Given the description of an element on the screen output the (x, y) to click on. 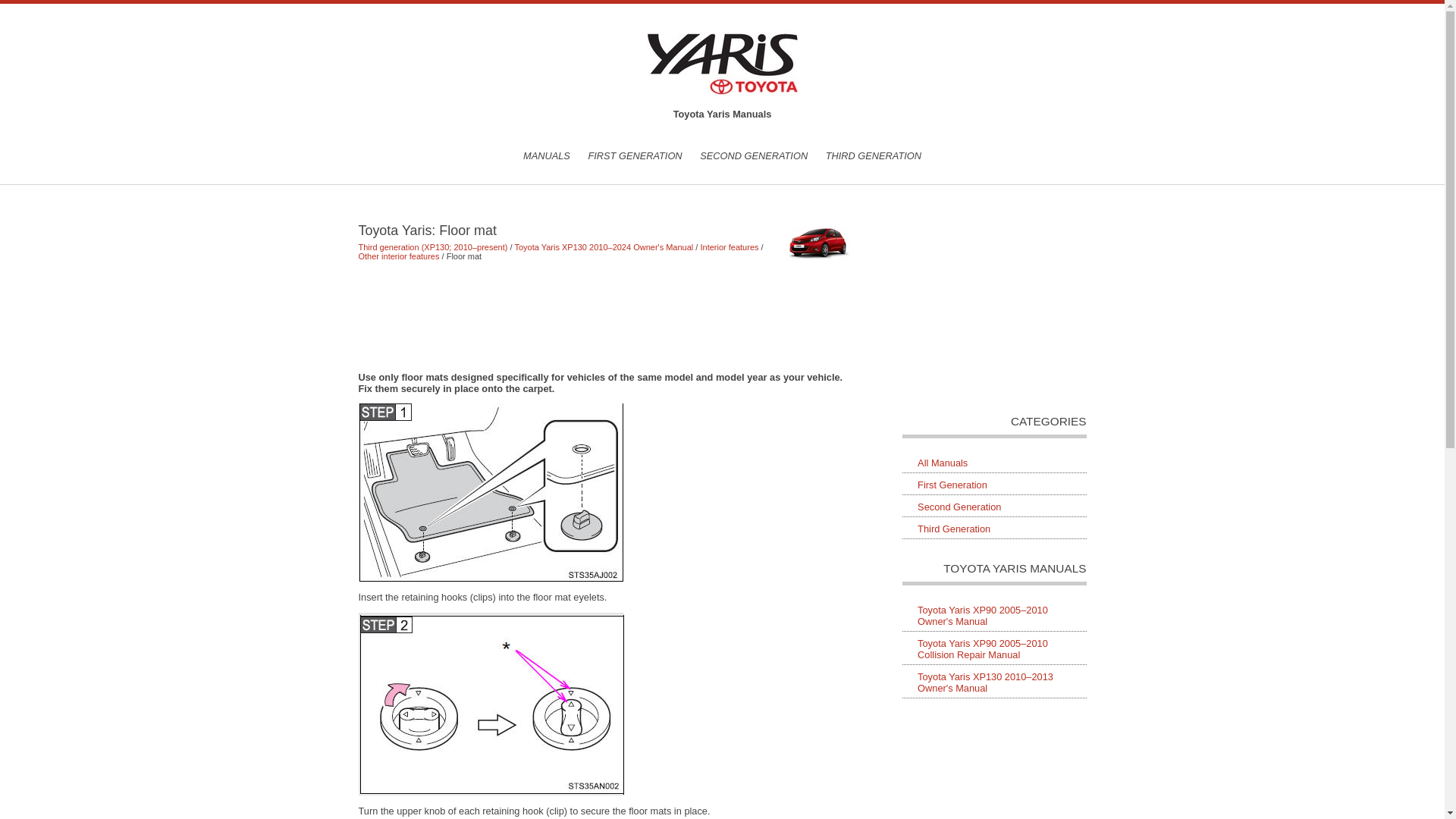
Other interior features (398, 256)
Second Generation (994, 506)
First Generation (994, 485)
All Manuals (994, 463)
Third Generation (994, 528)
FIRST GENERATION (634, 155)
THIRD GENERATION (873, 155)
MANUALS (546, 155)
Interior features (729, 246)
SECOND GENERATION (754, 155)
